Given the description of an element on the screen output the (x, y) to click on. 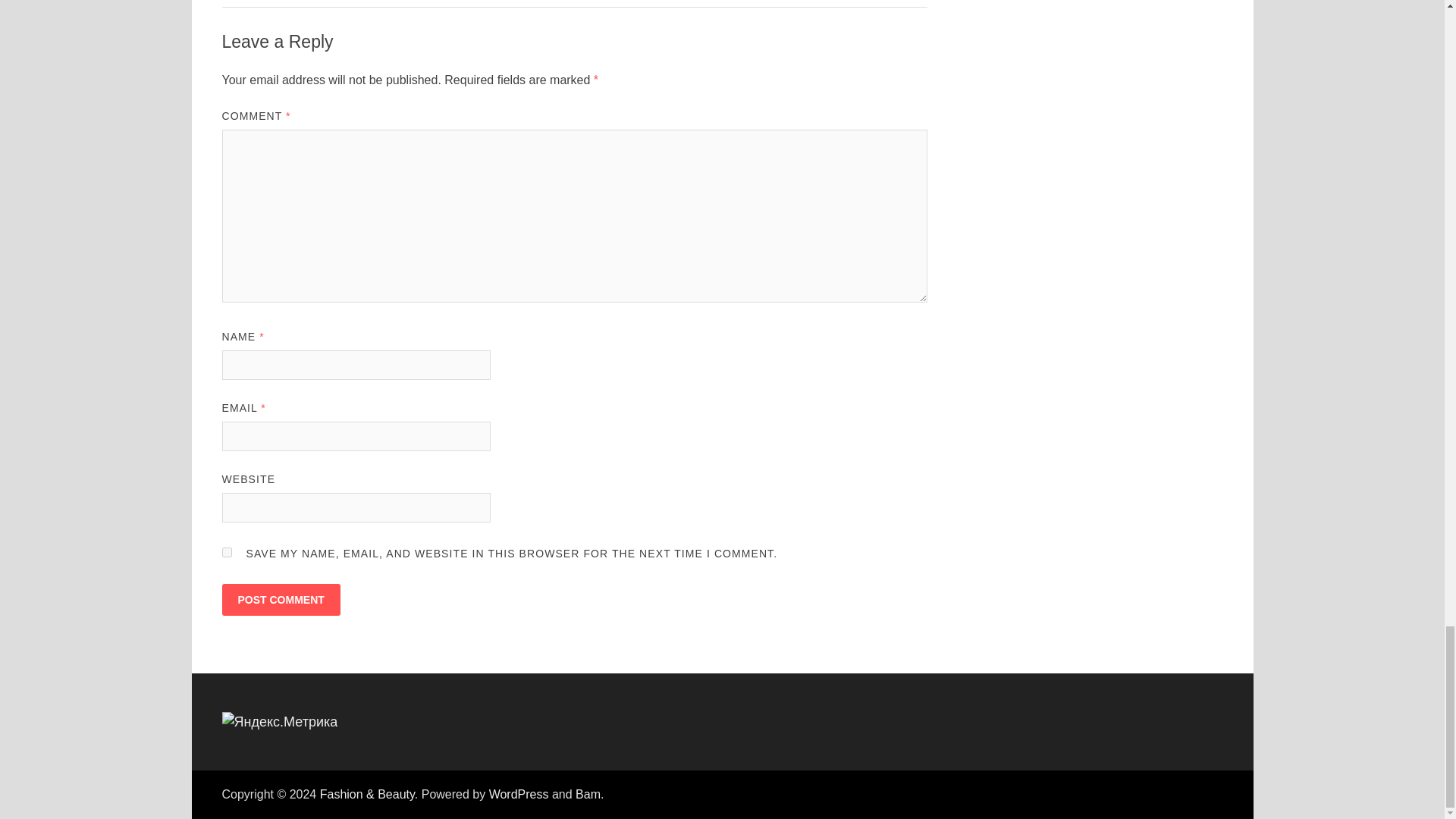
yes (226, 552)
Post Comment (280, 599)
Bam (587, 793)
WordPress (518, 793)
Post Comment (280, 599)
